Given the description of an element on the screen output the (x, y) to click on. 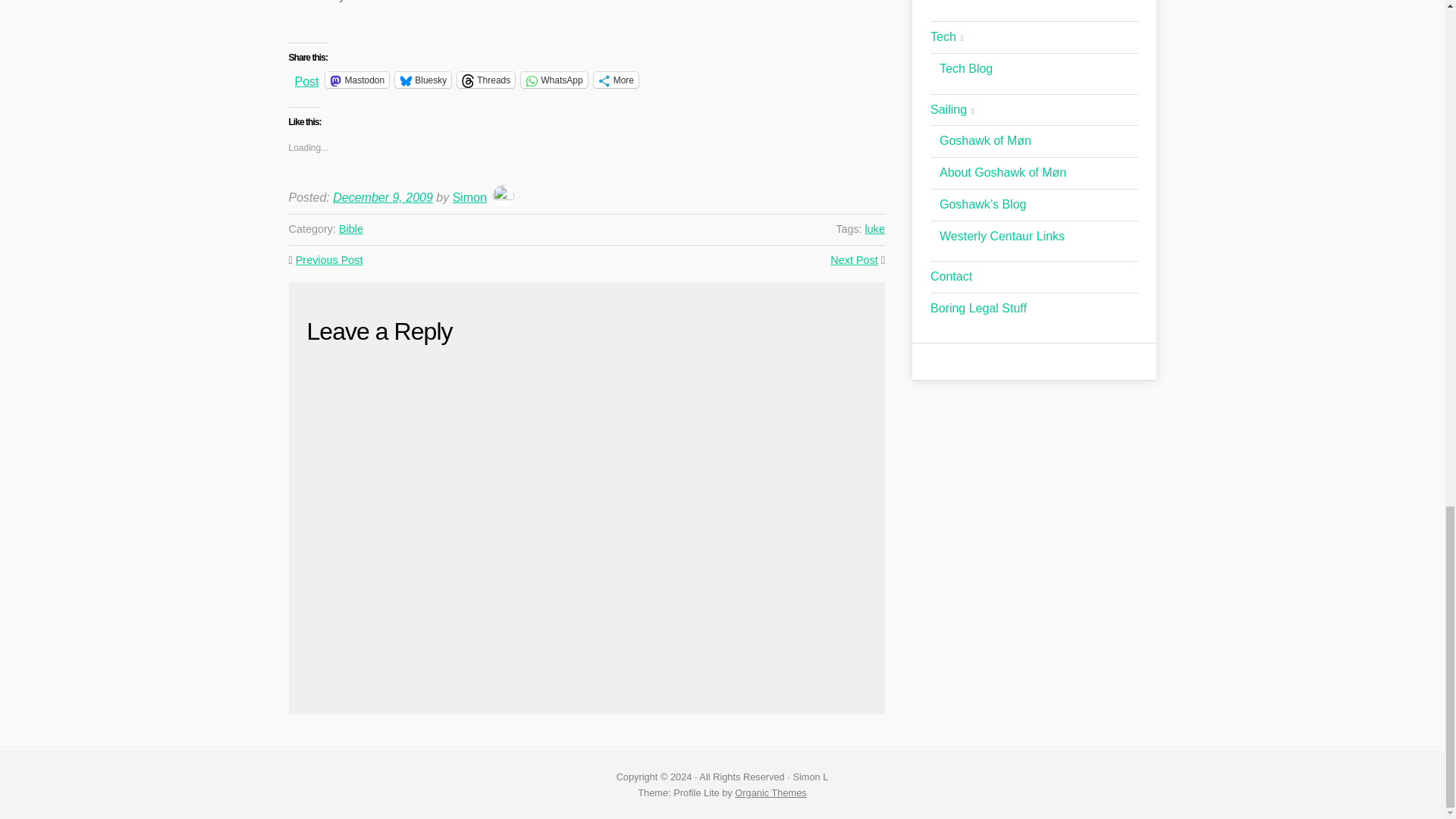
More (616, 79)
Click to share on Threads (486, 79)
Post (306, 78)
Click to share on WhatsApp (553, 79)
Click to share on Mastodon (357, 79)
Mastodon (357, 79)
Bluesky (422, 79)
Threads (486, 79)
Click to share on Bluesky (422, 79)
